Given the description of an element on the screen output the (x, y) to click on. 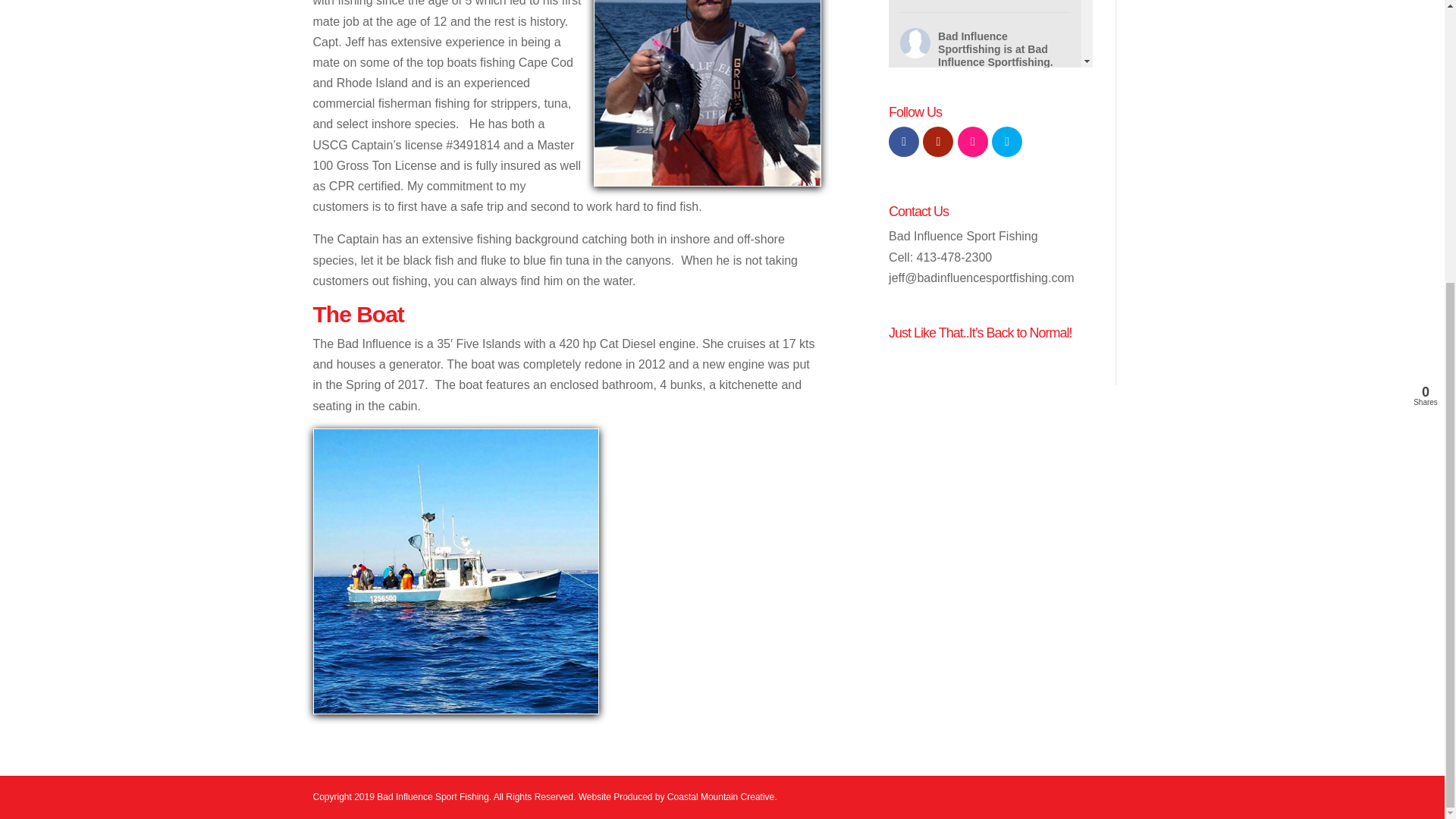
View on Facebook (933, 228)
Share (995, 228)
Bad Influence Sportfishing (972, 42)
Share (995, 228)
View on Facebook (933, 228)
